Given the description of an element on the screen output the (x, y) to click on. 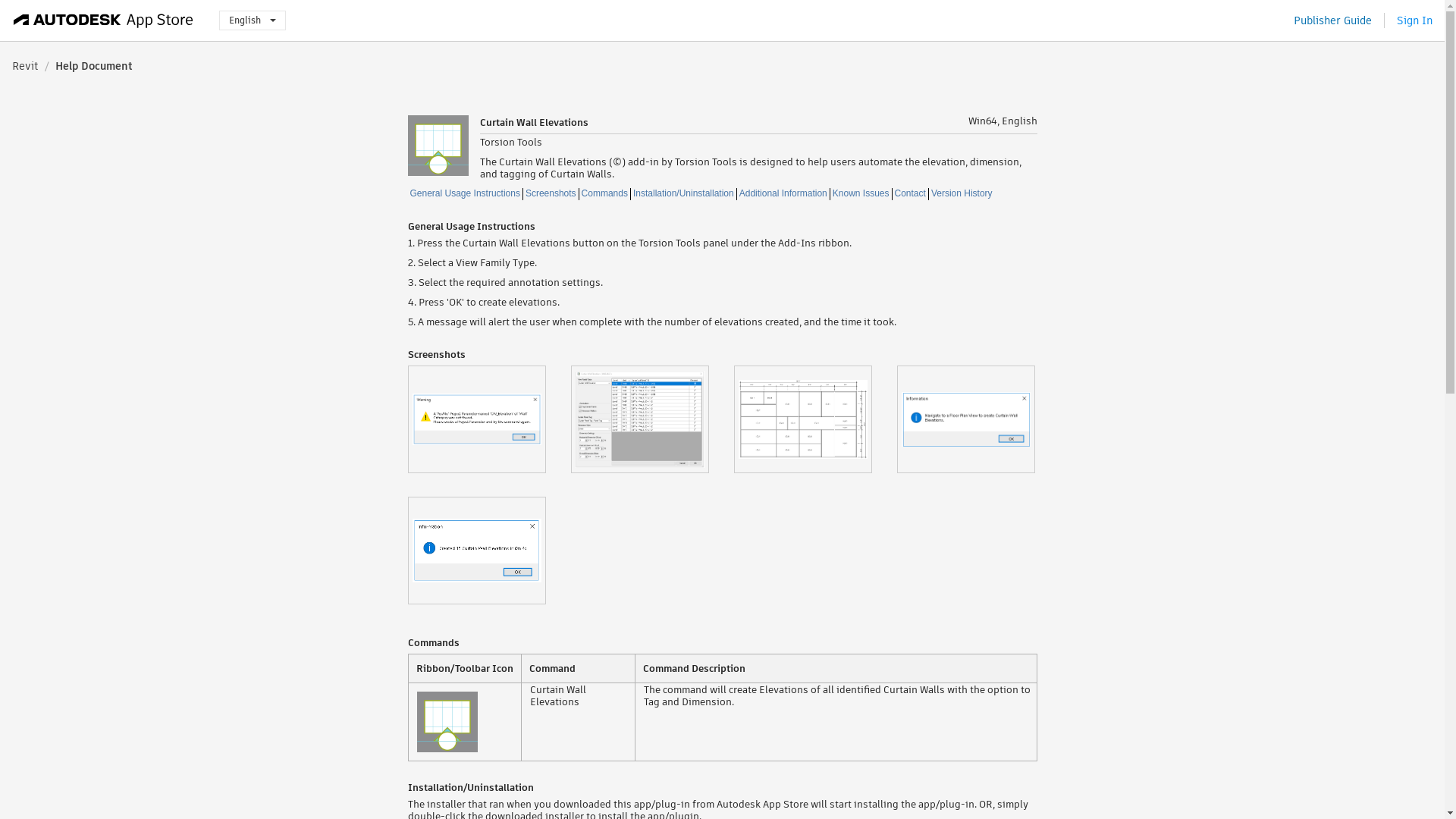
English (252, 20)
Revit (25, 65)
Publisher Guide (1332, 20)
General Usage Instructions (464, 193)
Additional Information (782, 193)
Contact (910, 193)
Commands (604, 193)
Autodesk App Store (103, 20)
Sign In (1414, 20)
Screenshots (550, 193)
